Given the description of an element on the screen output the (x, y) to click on. 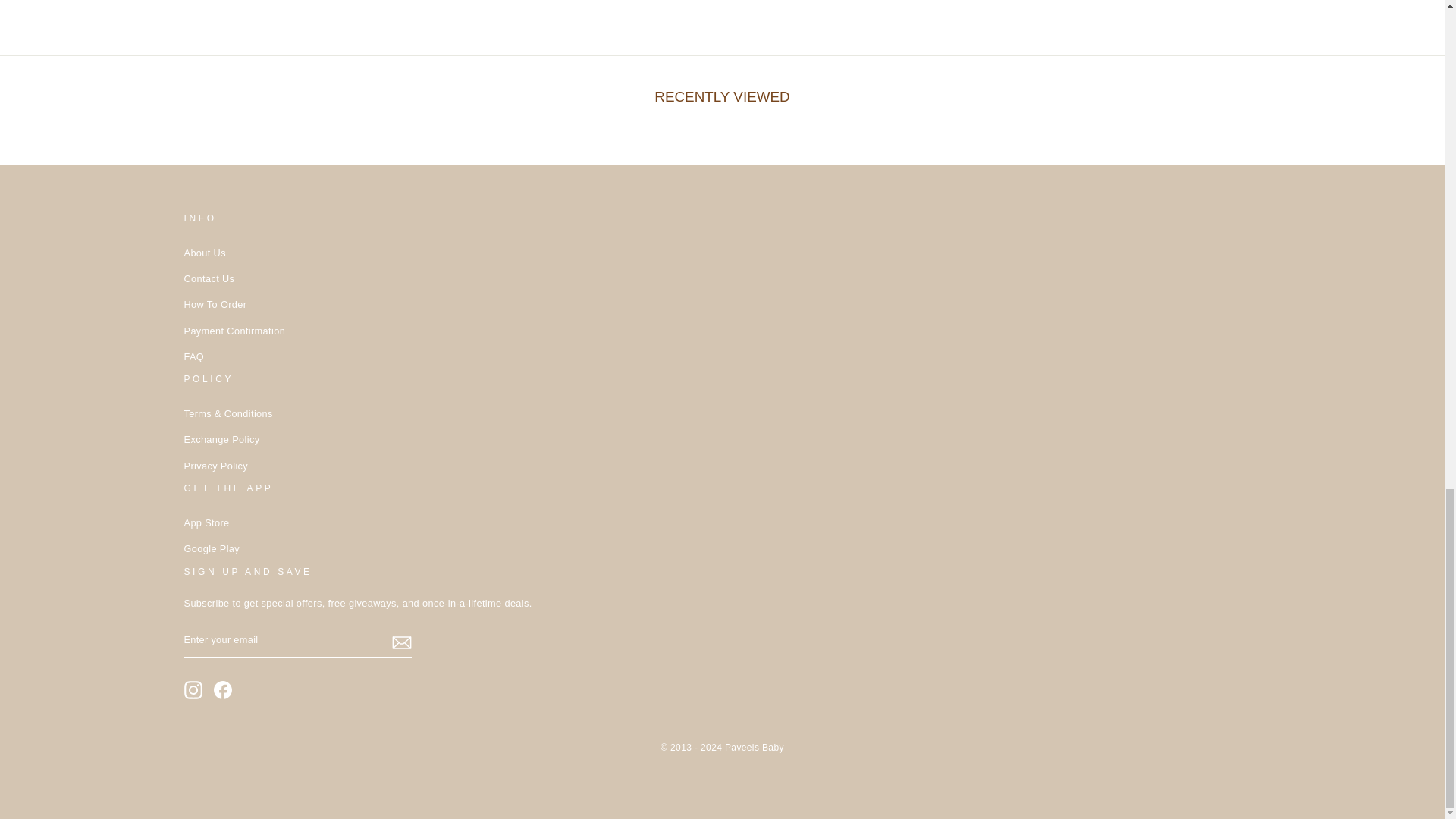
Paveels on Facebook (222, 689)
Paveels on Instagram (192, 689)
